Given the description of an element on the screen output the (x, y) to click on. 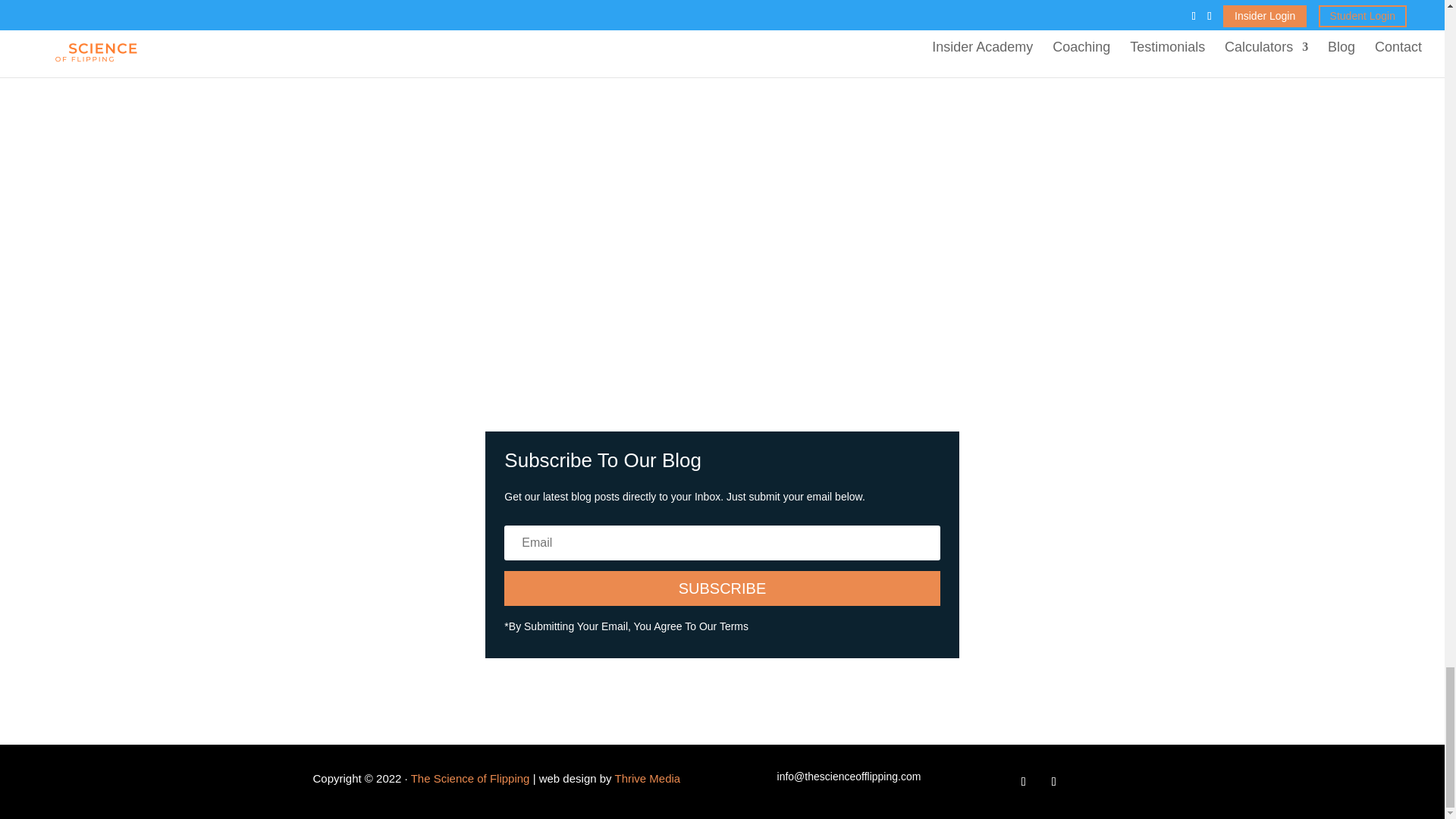
Thrive Media (646, 778)
Follow on Youtube (1053, 781)
Follow on Facebook (1023, 781)
Terms (733, 625)
The Science of Flipping (471, 778)
SUBSCRIBE (721, 588)
